Given the description of an element on the screen output the (x, y) to click on. 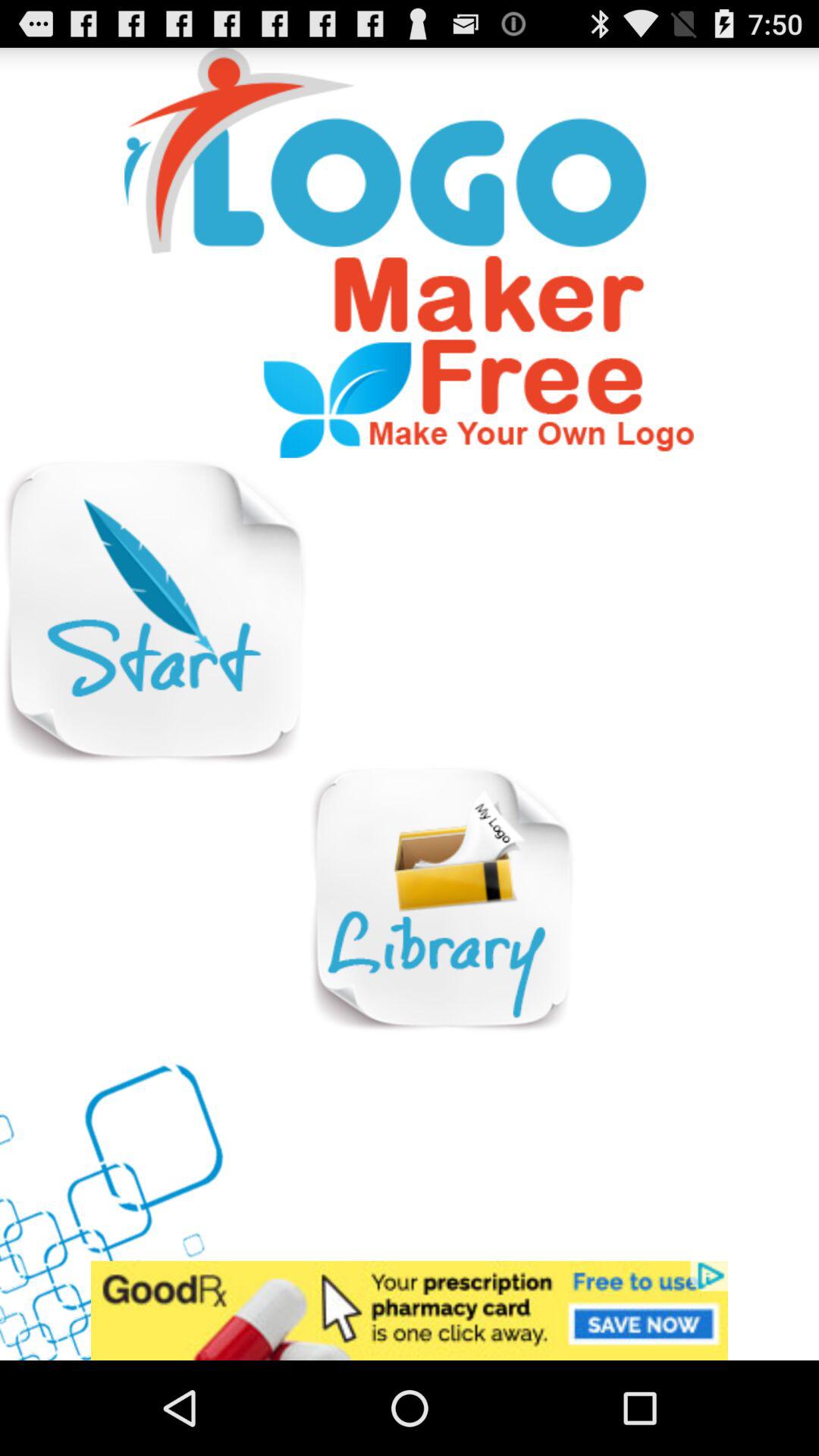
create a new logo (153, 611)
